Given the description of an element on the screen output the (x, y) to click on. 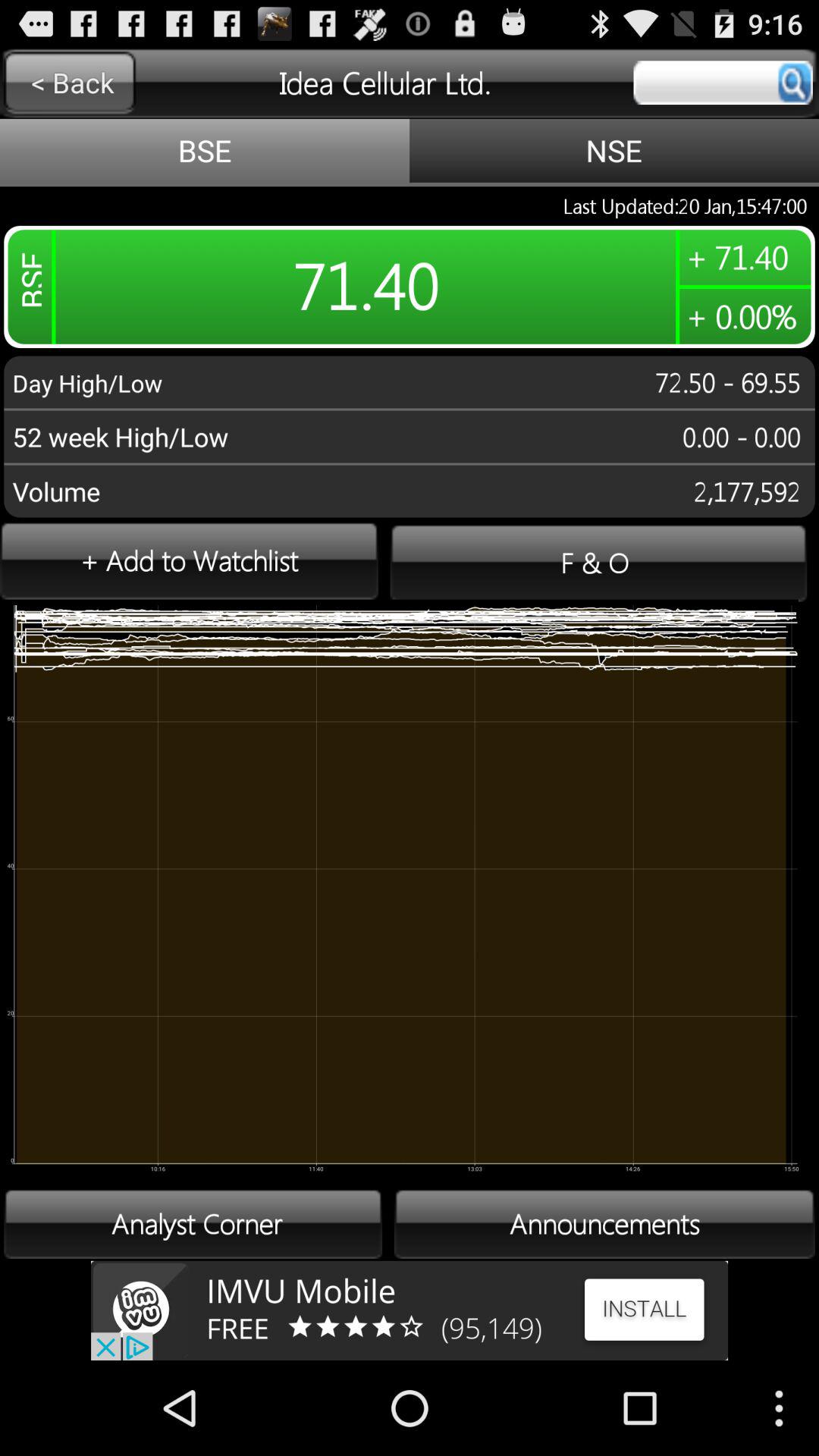
app to be install in add (409, 1310)
